Given the description of an element on the screen output the (x, y) to click on. 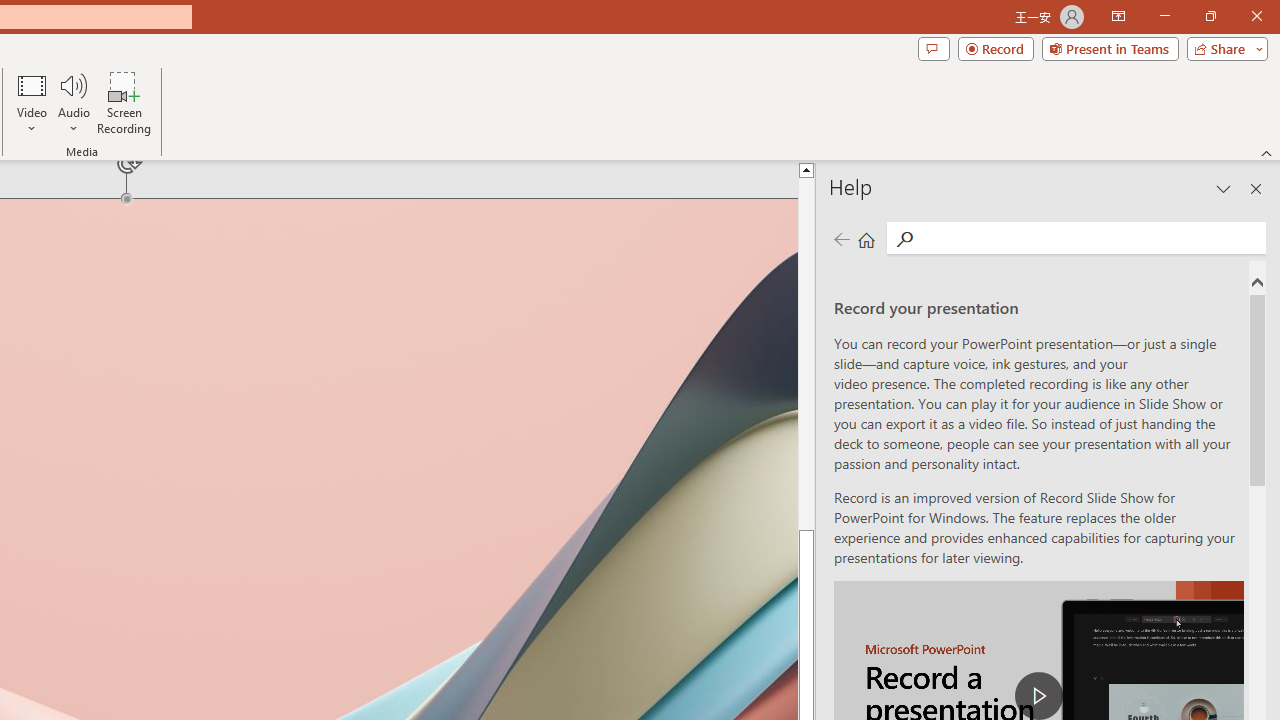
Screen Recording... (123, 102)
Previous page (841, 238)
